Given the description of an element on the screen output the (x, y) to click on. 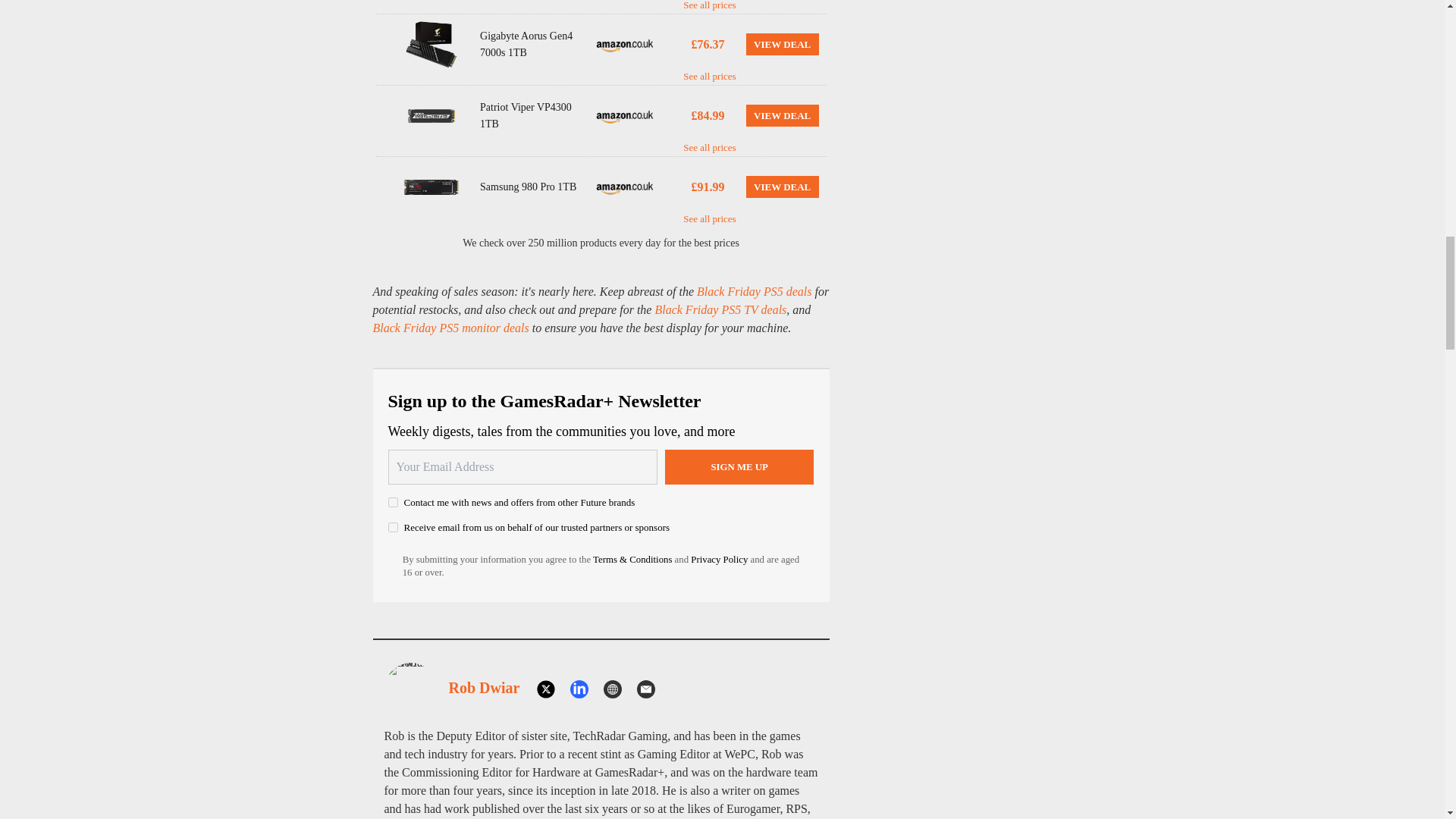
on (392, 527)
on (392, 501)
Amazon (624, 44)
Gigabyte AORUS Gen4 7300 SSD... (431, 44)
Amazon (624, 115)
Sign me up (739, 466)
Patriot Viper VP4300 1TB M.2... (431, 115)
Amazon (624, 186)
